Given the description of an element on the screen output the (x, y) to click on. 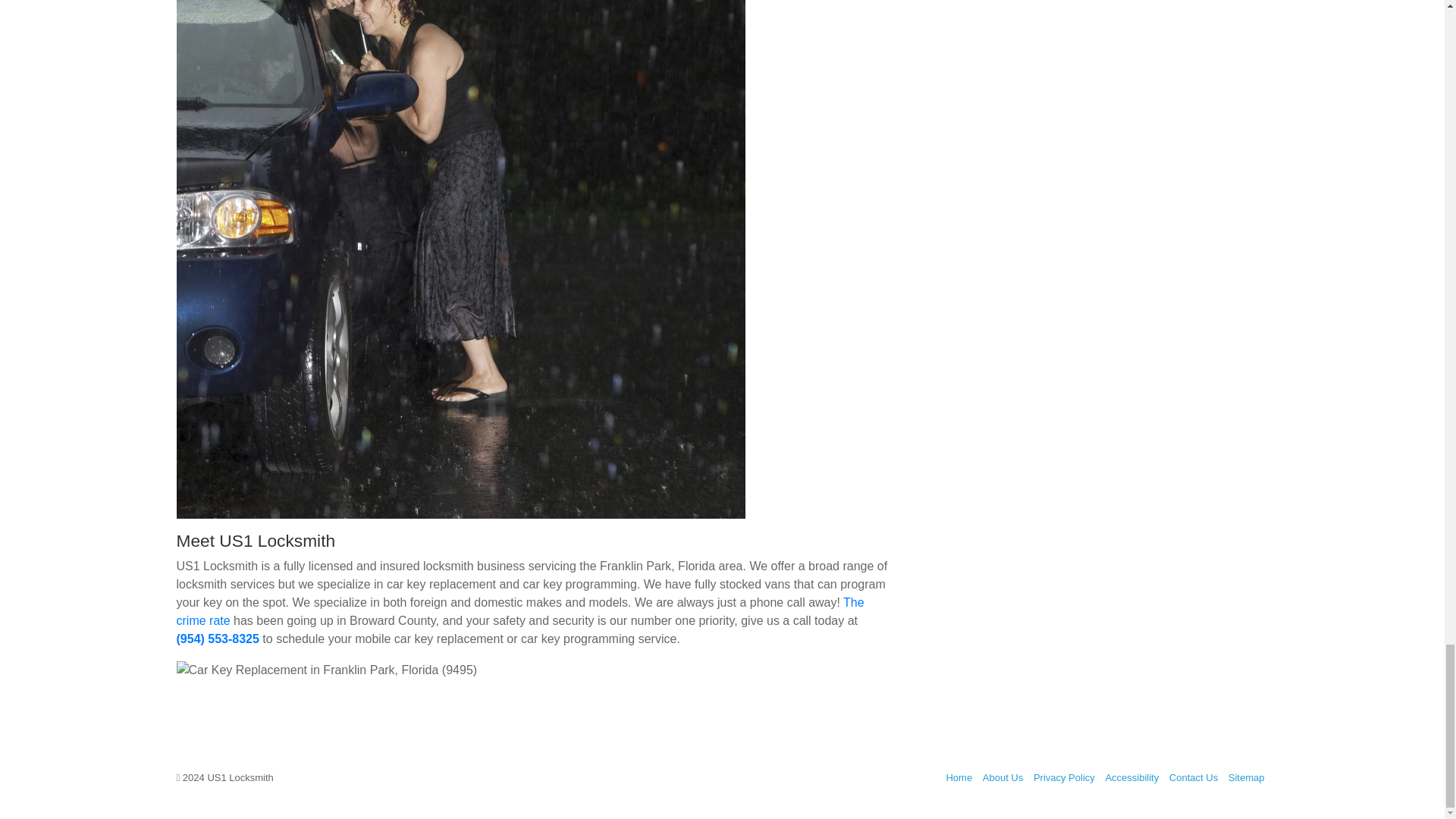
Contact Us (1193, 777)
Accessibility (1131, 777)
The crime rate (519, 611)
Privacy Policy (1063, 777)
Sitemap (1246, 777)
Home (958, 777)
About Us (1002, 777)
